Given the description of an element on the screen output the (x, y) to click on. 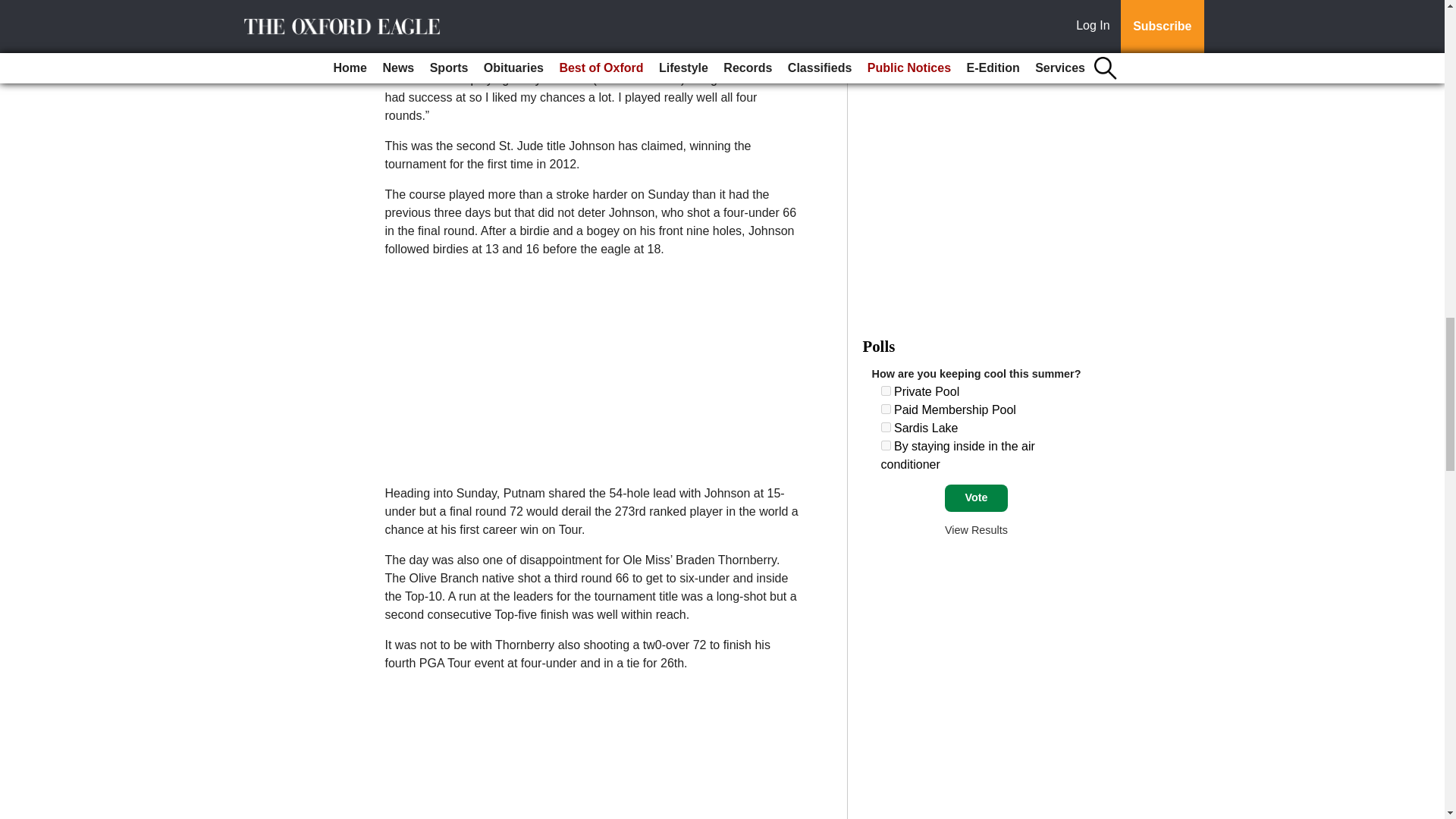
View Results Of This Poll (975, 530)
Subscribe (434, 11)
167 (885, 445)
Subscribe (434, 11)
   Vote    (975, 497)
166 (885, 427)
165 (885, 409)
164 (885, 390)
